Given the description of an element on the screen output the (x, y) to click on. 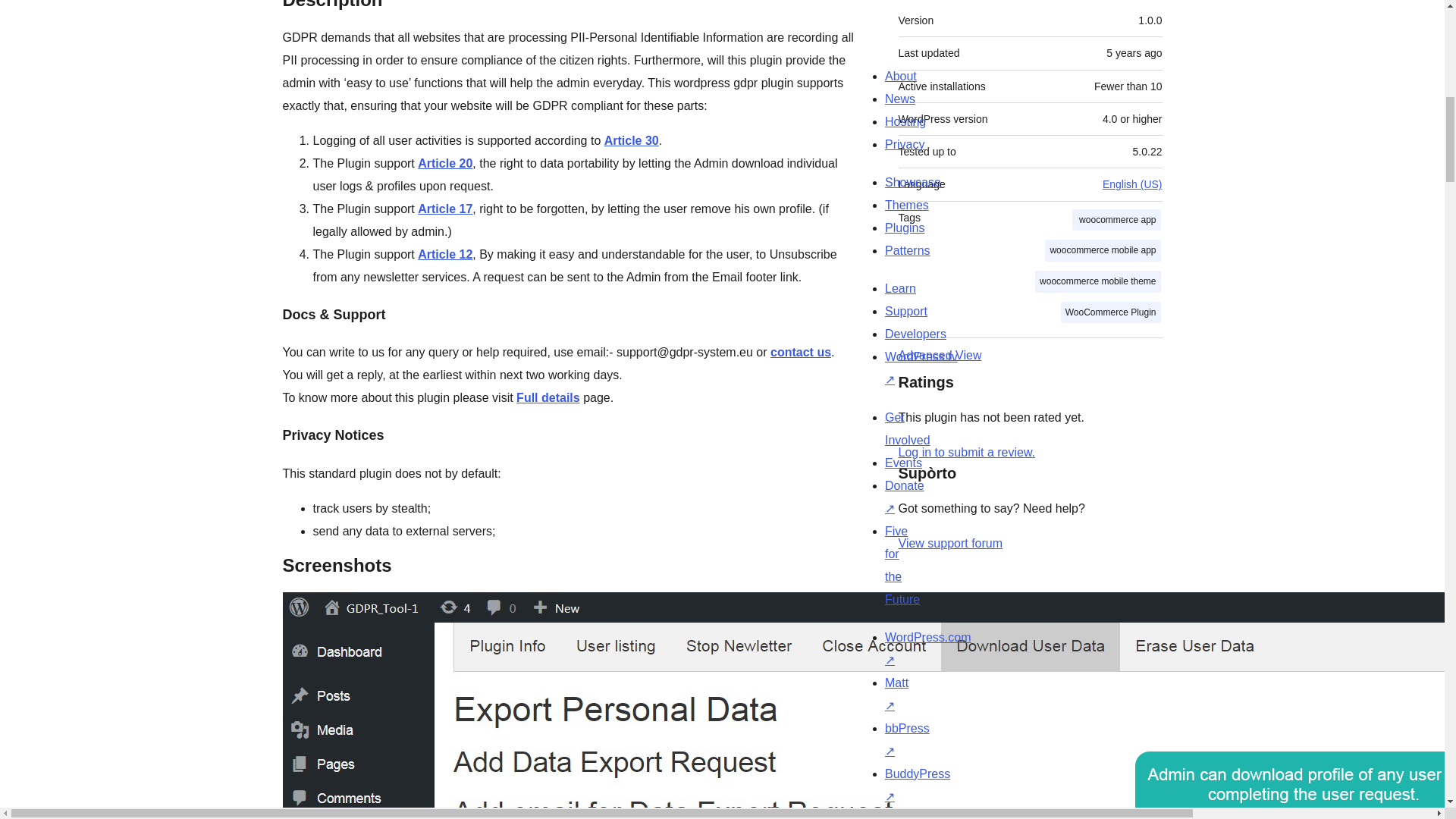
WordPress.org (1014, 813)
Log in to WordPress.org (966, 451)
WordPress.org (864, 818)
contact us (800, 351)
Full details (547, 397)
Article 17 (444, 208)
Article 20 (444, 163)
Article 30 (631, 140)
Article 12 (444, 254)
